Given the description of an element on the screen output the (x, y) to click on. 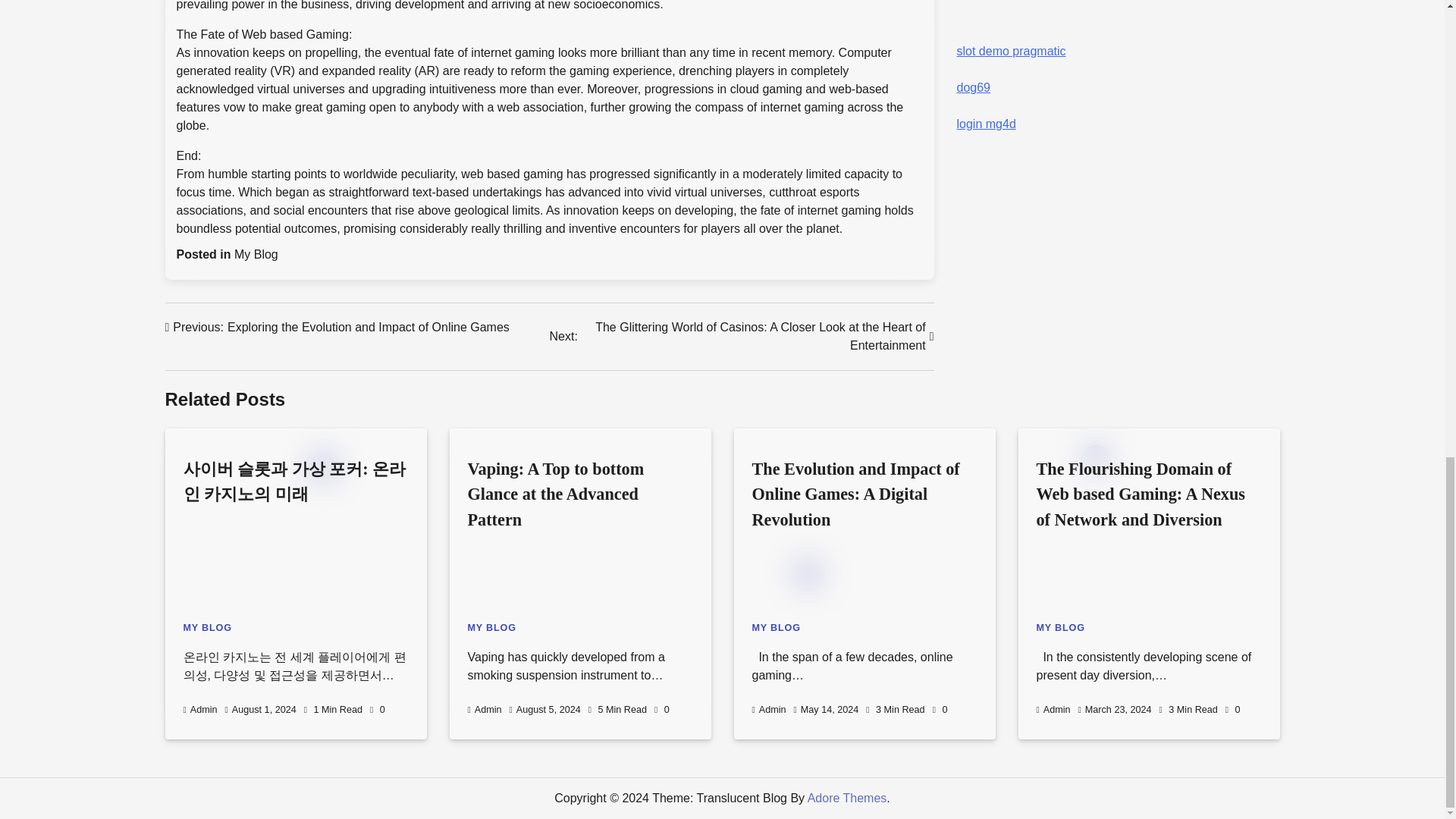
My Blog (256, 254)
Adore Themes (847, 797)
Admin (199, 709)
MY BLOG (776, 627)
MY BLOG (1059, 627)
Admin (337, 327)
MY BLOG (769, 709)
Vaping: A Top to bottom Glance at the Advanced Pattern (491, 627)
